Given the description of an element on the screen output the (x, y) to click on. 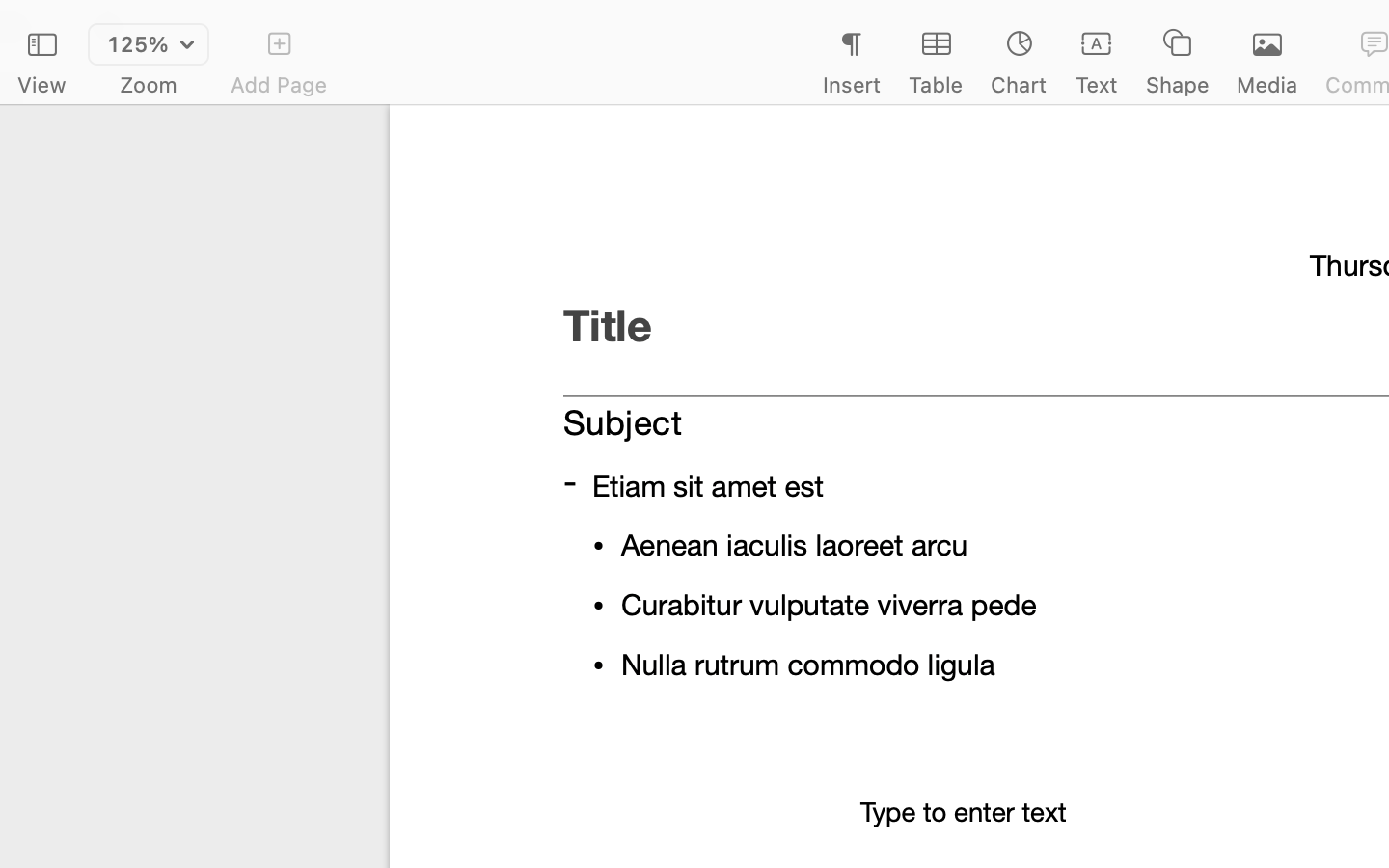
Learn More Element type: AXStaticText (1126, 618)
Click to link text boxes together. Element type: AXStaticText (1126, 568)
View Element type: AXStaticText (41, 84)
